Given the description of an element on the screen output the (x, y) to click on. 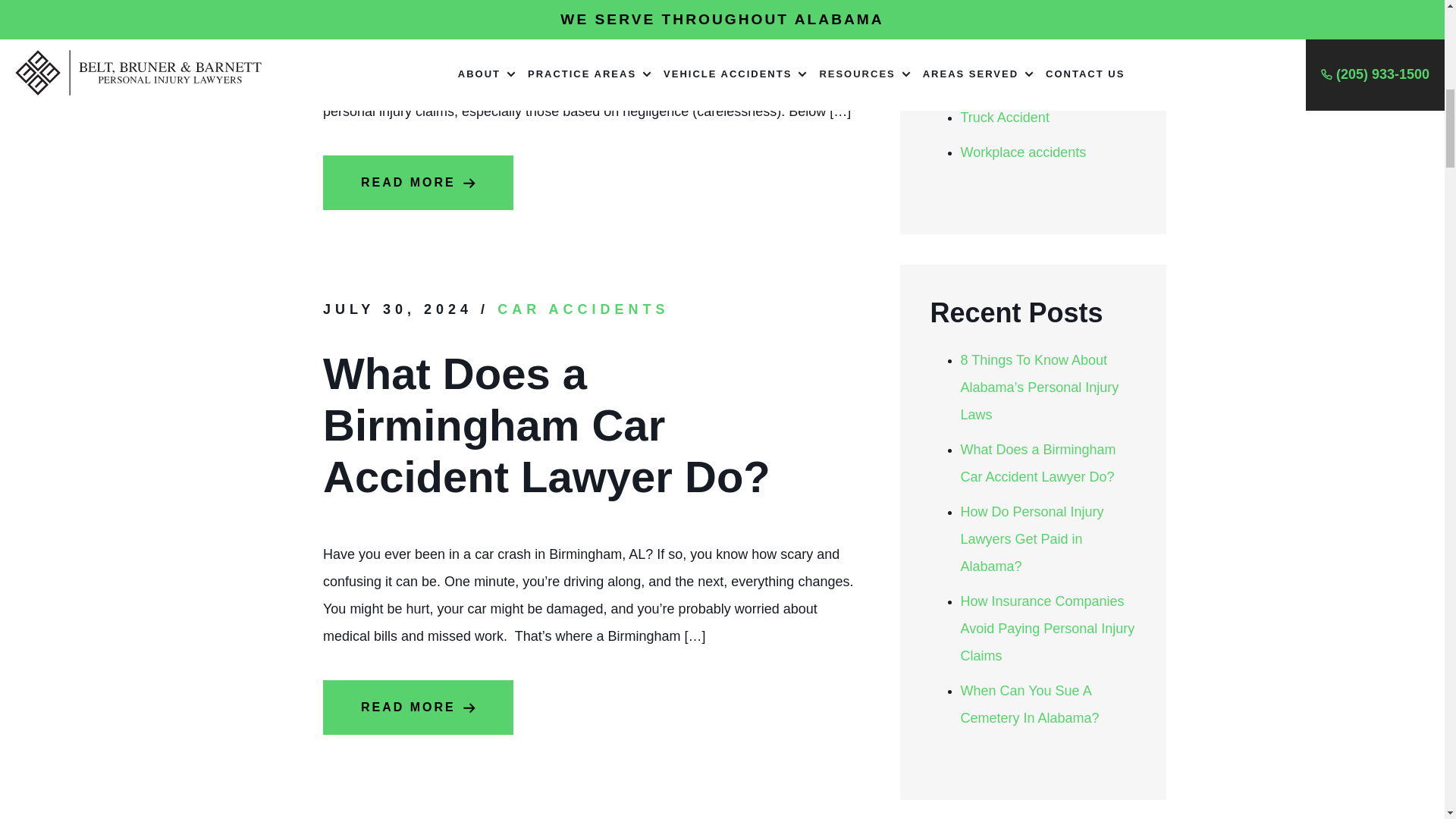
READ MORE (418, 707)
READ MORE (418, 182)
CAR ACCIDENTS (582, 309)
